Given the description of an element on the screen output the (x, y) to click on. 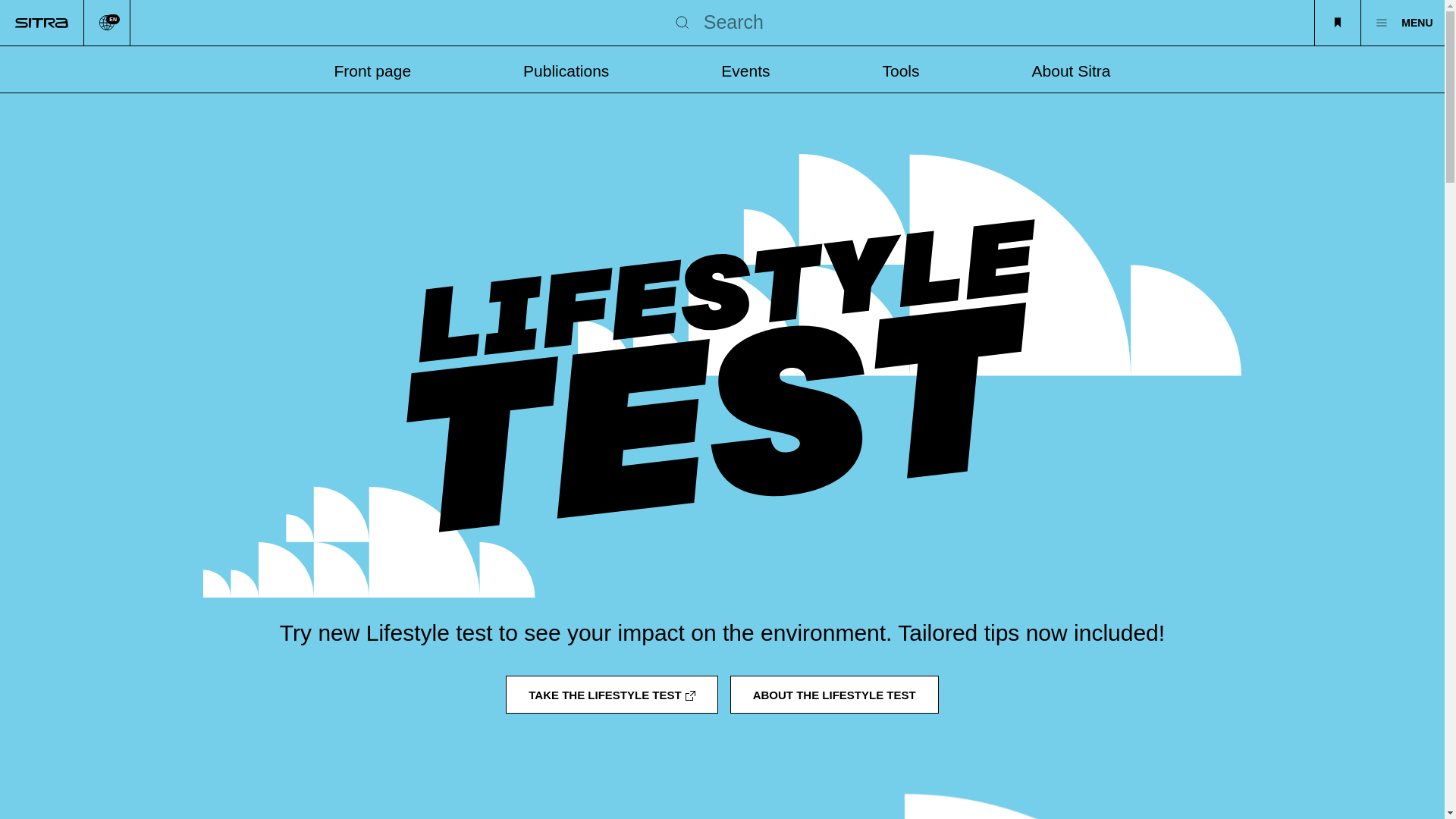
Search (682, 22)
Search (682, 22)
Go directly to content (106, 22)
